Given the description of an element on the screen output the (x, y) to click on. 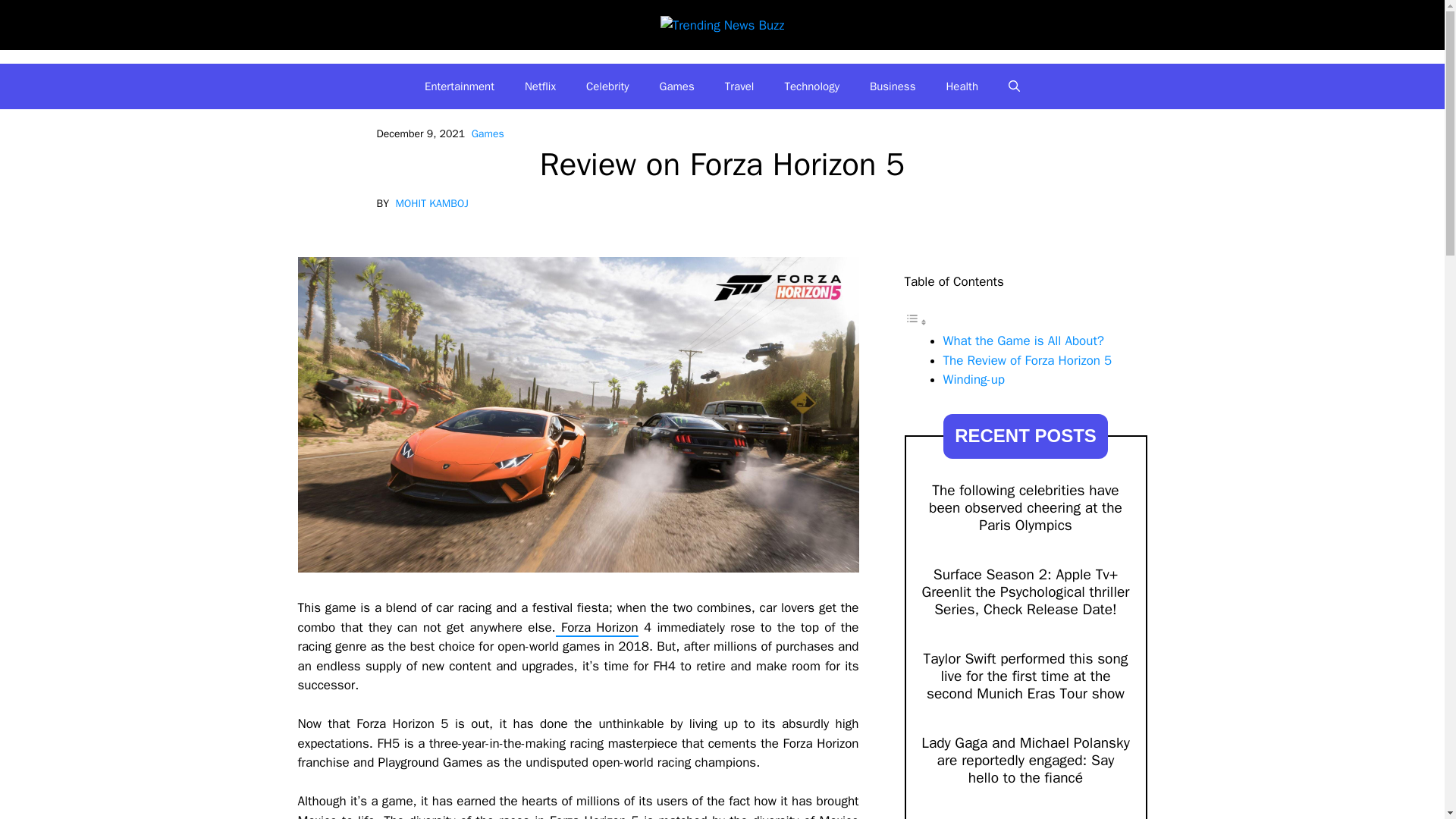
The Review of Forza Horizon 5 (1027, 360)
What the Game is All About? (1024, 340)
MOHIT KAMBOJ (432, 203)
Netflix (539, 85)
Games (487, 133)
The Review of Forza Horizon 5 (1027, 360)
Business (892, 85)
Travel (740, 85)
Winding-up (973, 379)
